Given the description of an element on the screen output the (x, y) to click on. 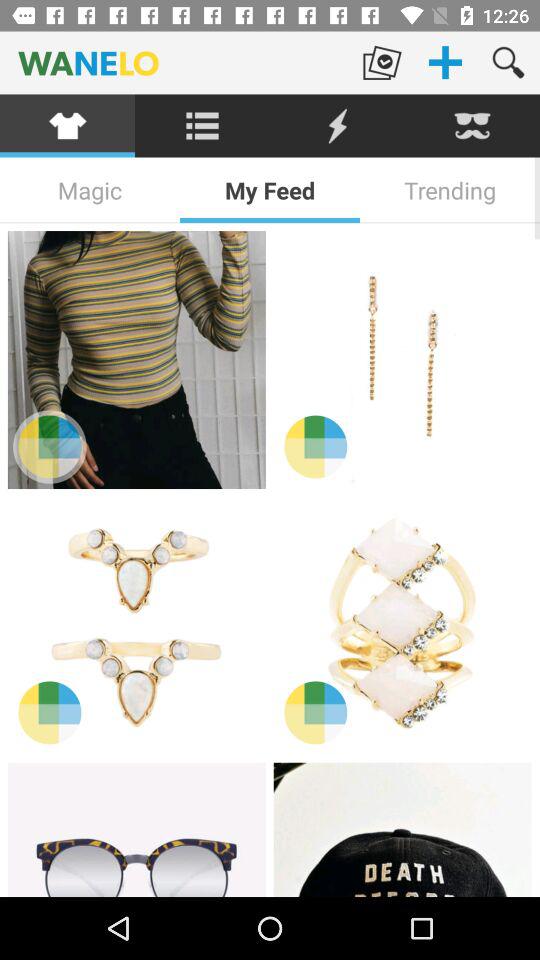
select glasses (136, 829)
